Given the description of an element on the screen output the (x, y) to click on. 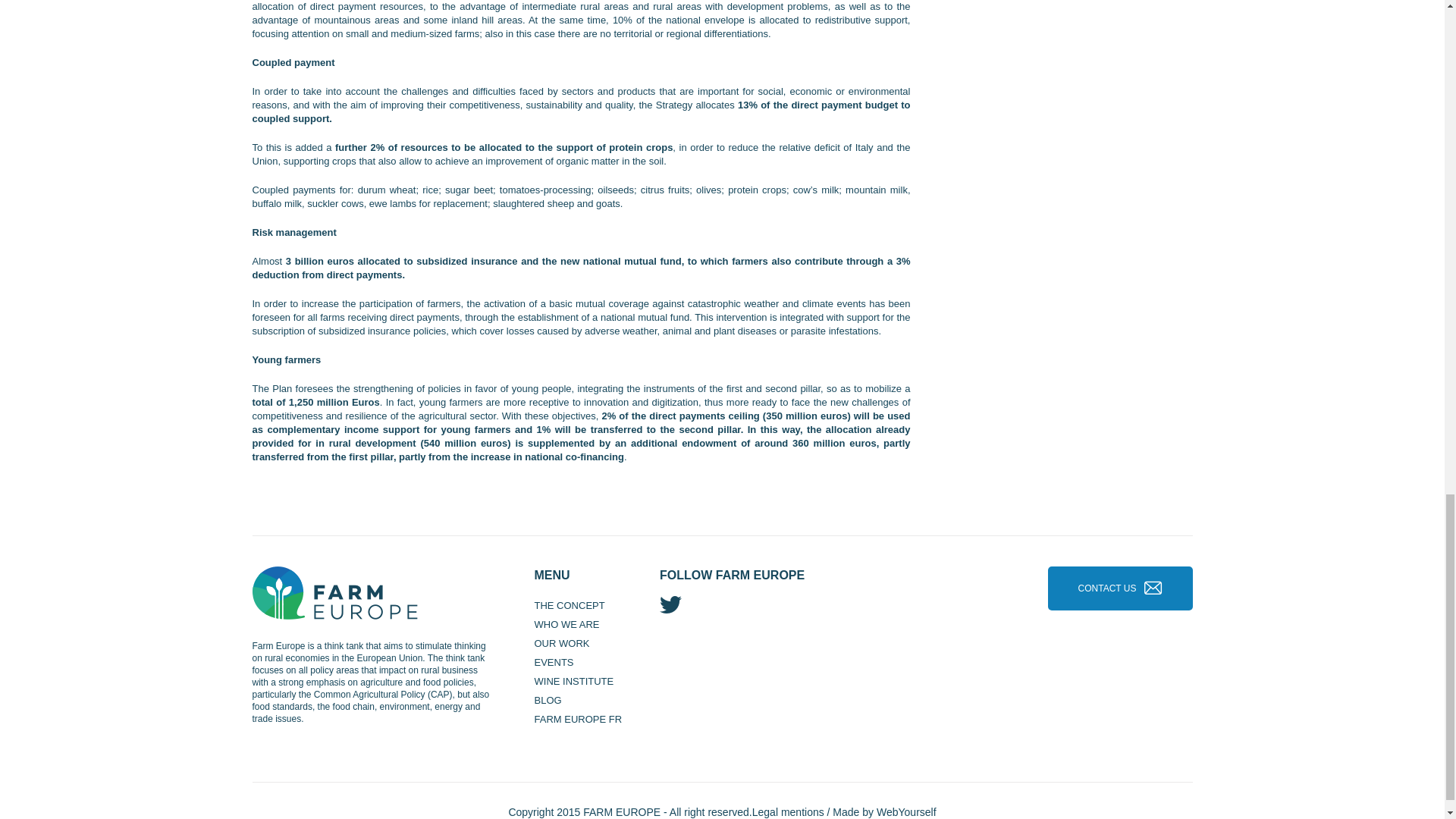
FARM EUROPE FR (577, 718)
BLOG (547, 699)
WHO WE ARE (566, 624)
WINE INSTITUTE (573, 681)
OUR WORK (561, 643)
Legal mentions (788, 811)
CONTACT US (1107, 588)
WebYourself (906, 811)
EVENTS (553, 662)
THE CONCEPT (569, 604)
